Given the description of an element on the screen output the (x, y) to click on. 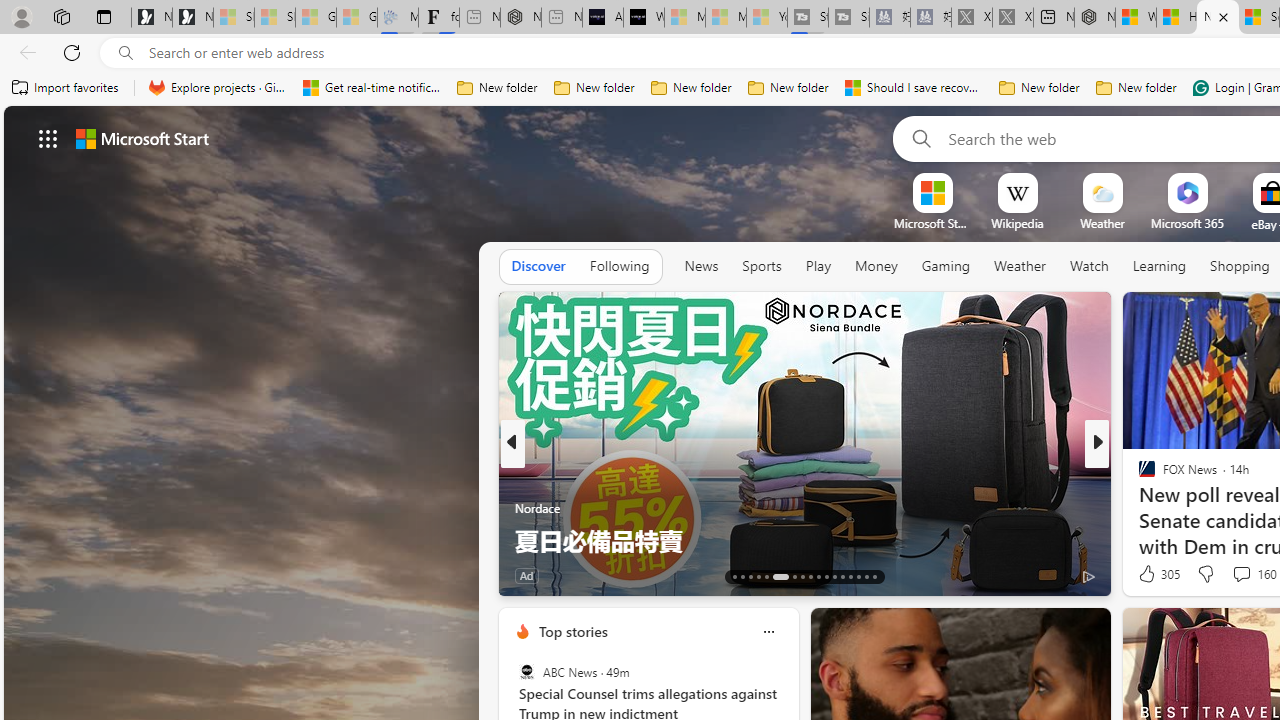
AutomationID: tab-20 (801, 576)
124 Like (1151, 574)
AutomationID: tab-41 (857, 576)
Sports (761, 267)
Wildlife - MSN (1135, 17)
Thrift My Life (1138, 475)
AutomationID: waffle (47, 138)
Dislike (1204, 574)
Nordace - My Account (1094, 17)
AutomationID: tab-25 (842, 576)
Play (817, 265)
AutomationID: tab-15 (750, 576)
New folder (1136, 88)
